Given the description of an element on the screen output the (x, y) to click on. 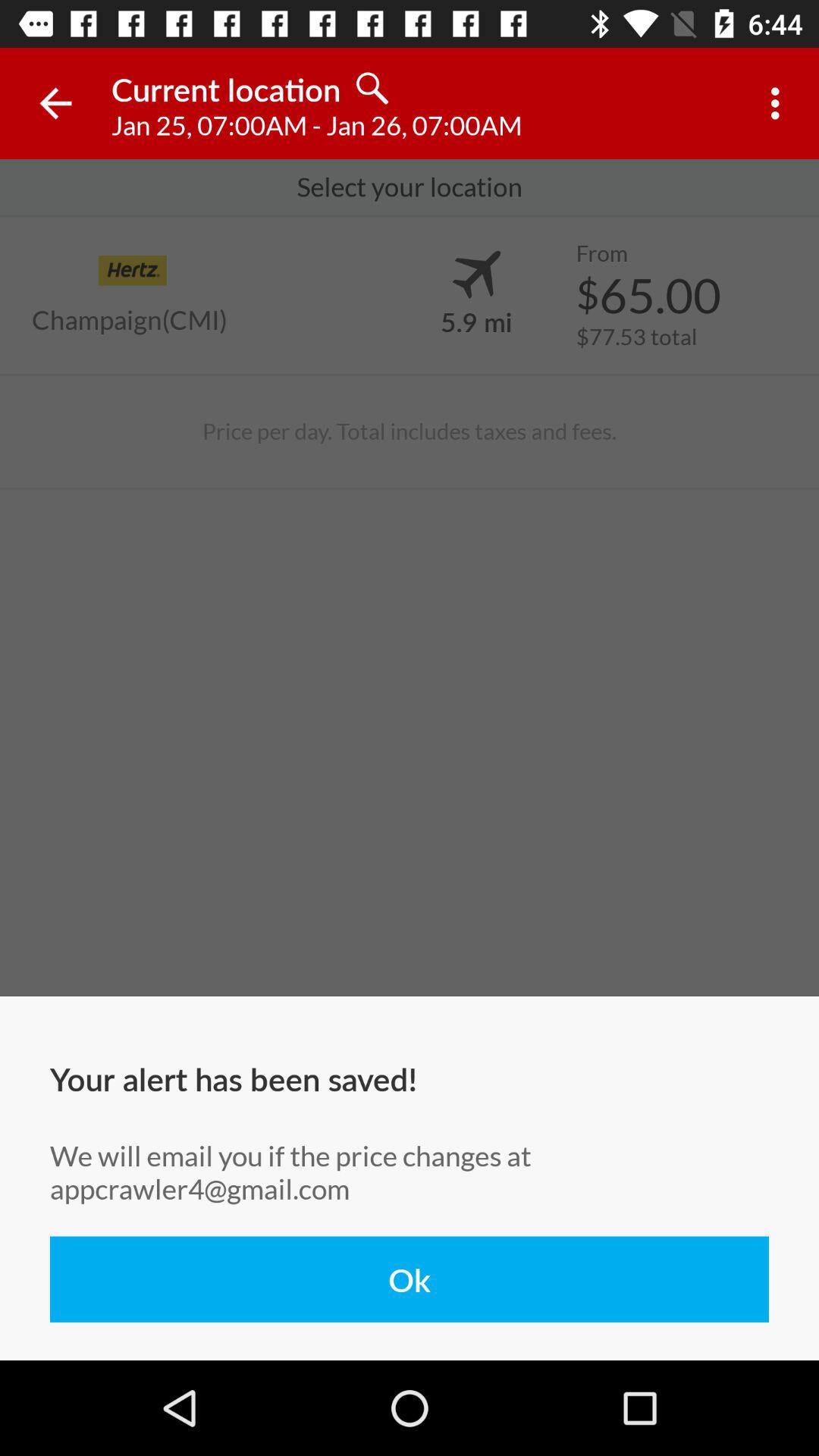
turn on icon above $65.00 icon (601, 253)
